Given the description of an element on the screen output the (x, y) to click on. 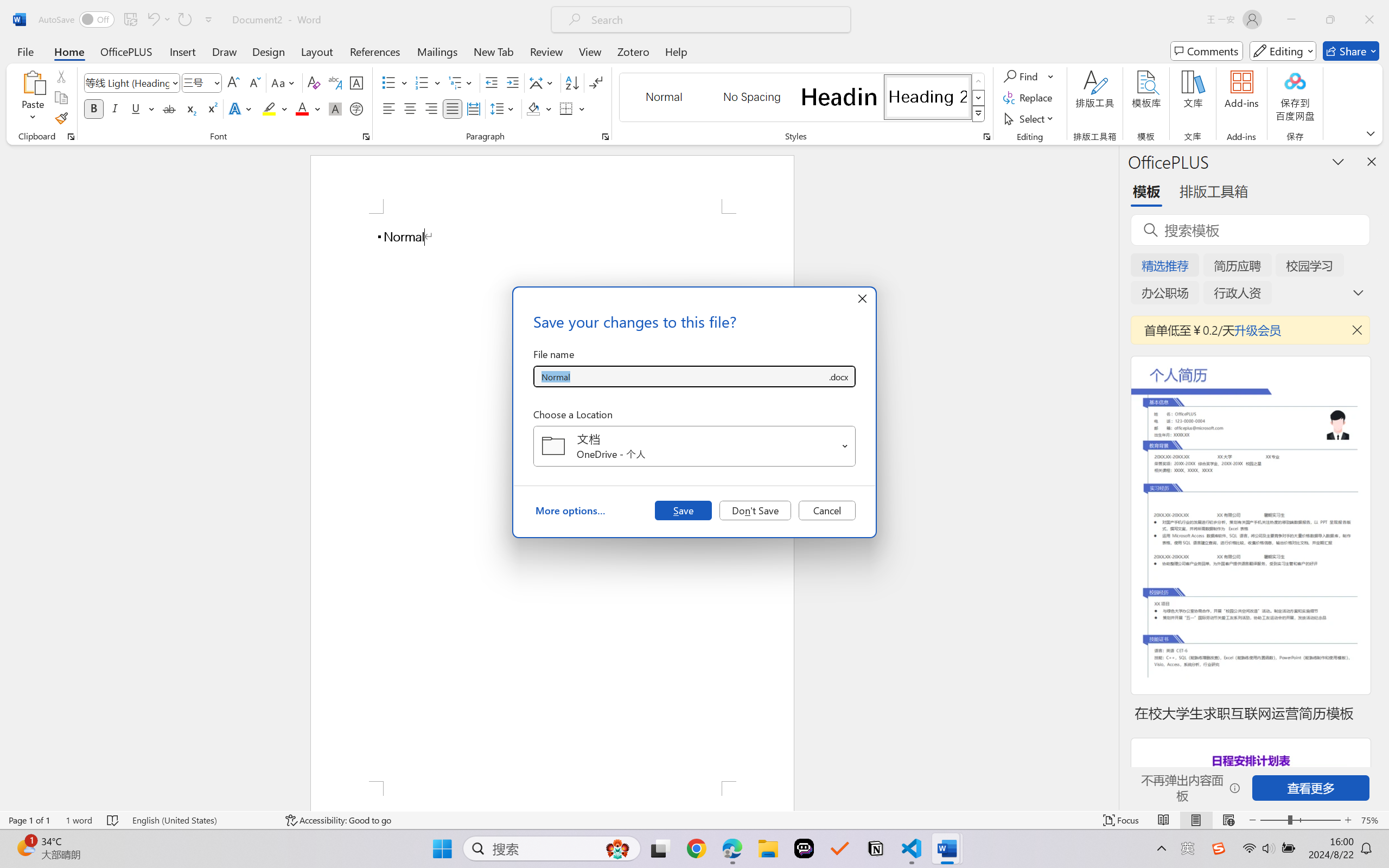
Styles... (986, 136)
Borders (571, 108)
Justify (452, 108)
